Given the description of an element on the screen output the (x, y) to click on. 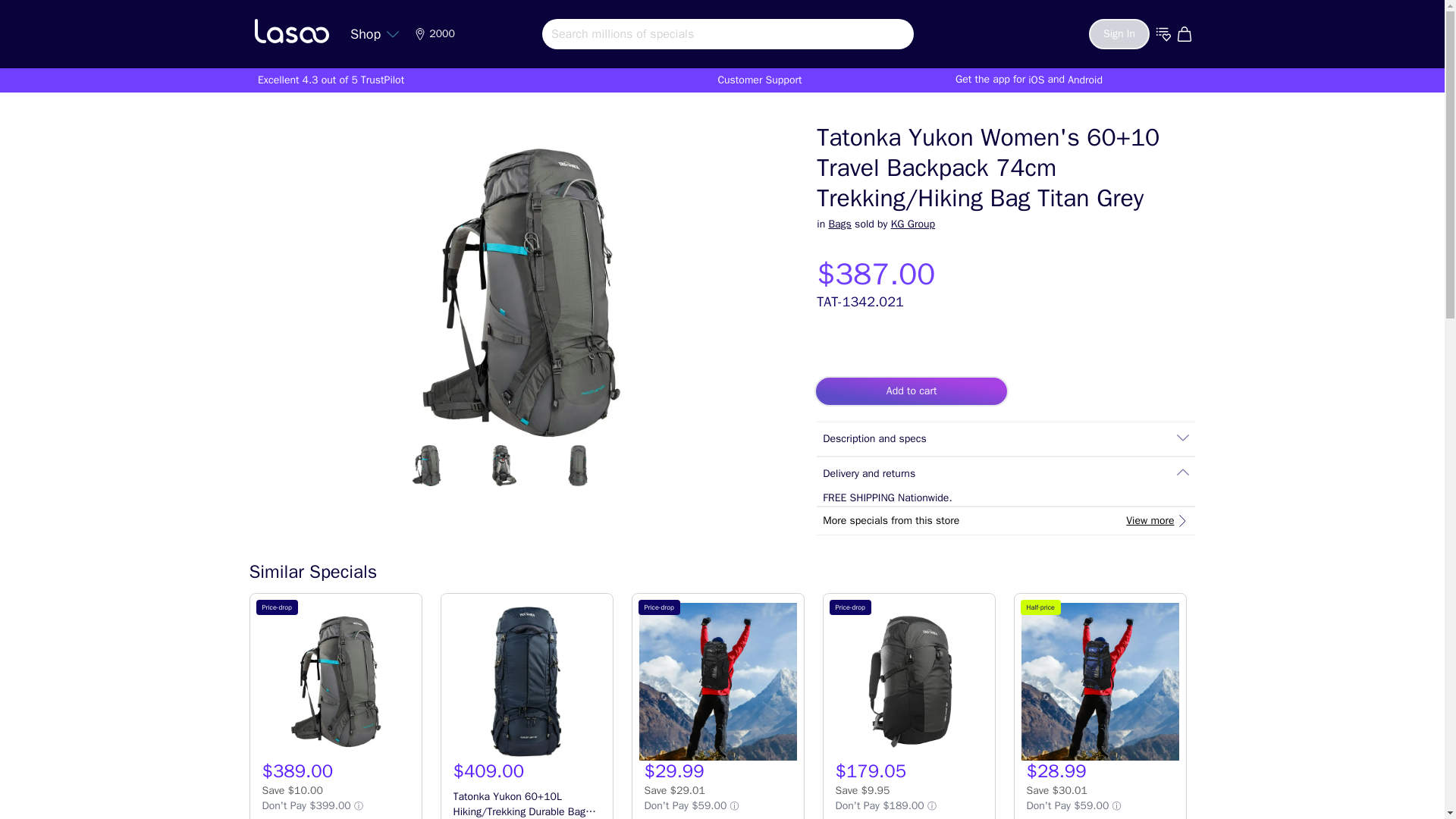
Go to cart (1185, 33)
Shop (374, 33)
lasoo (291, 30)
Go to wishlist (1163, 33)
